Given the description of an element on the screen output the (x, y) to click on. 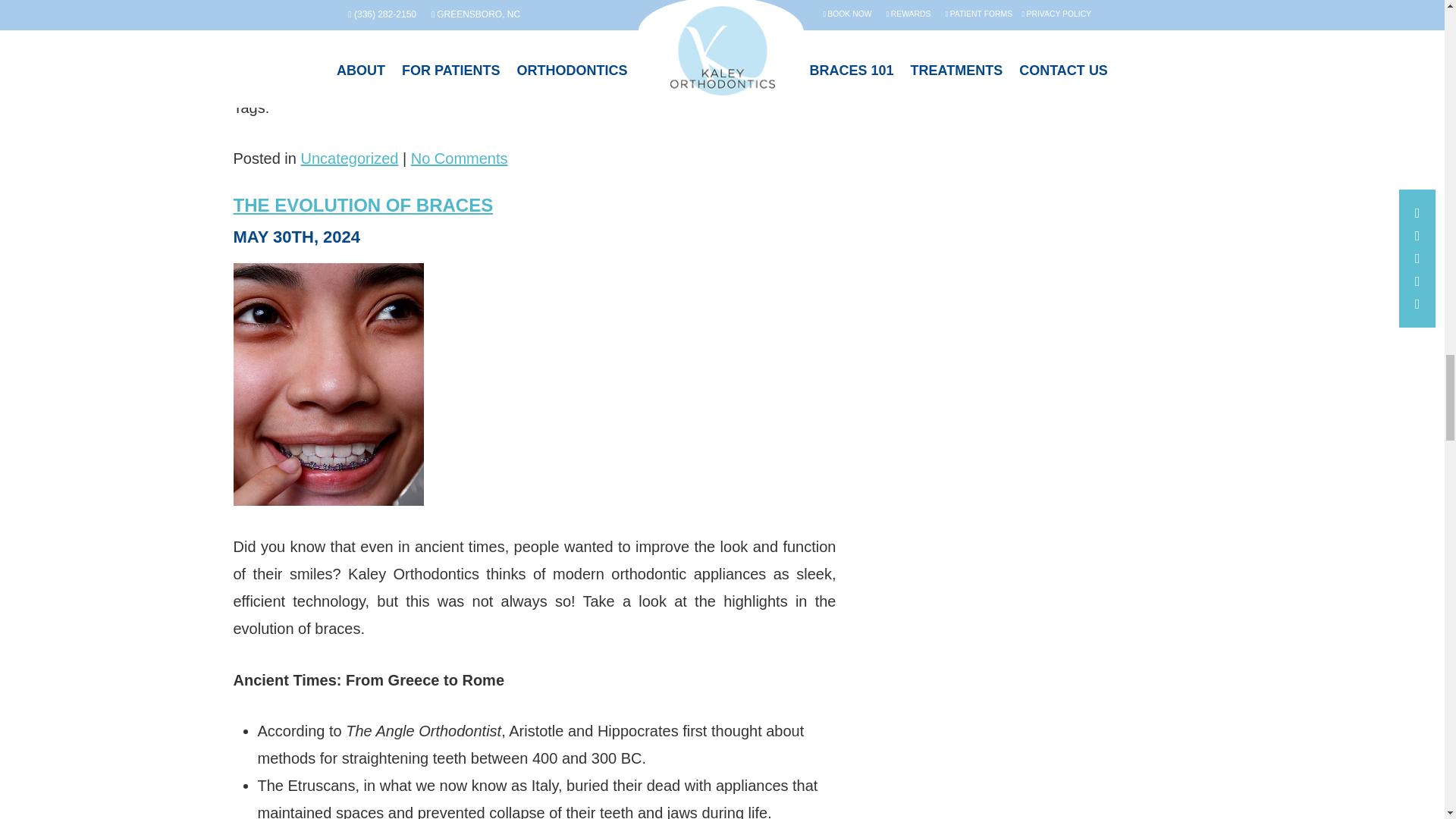
Permanent Link to The Evolution of Braces (362, 204)
